Given the description of an element on the screen output the (x, y) to click on. 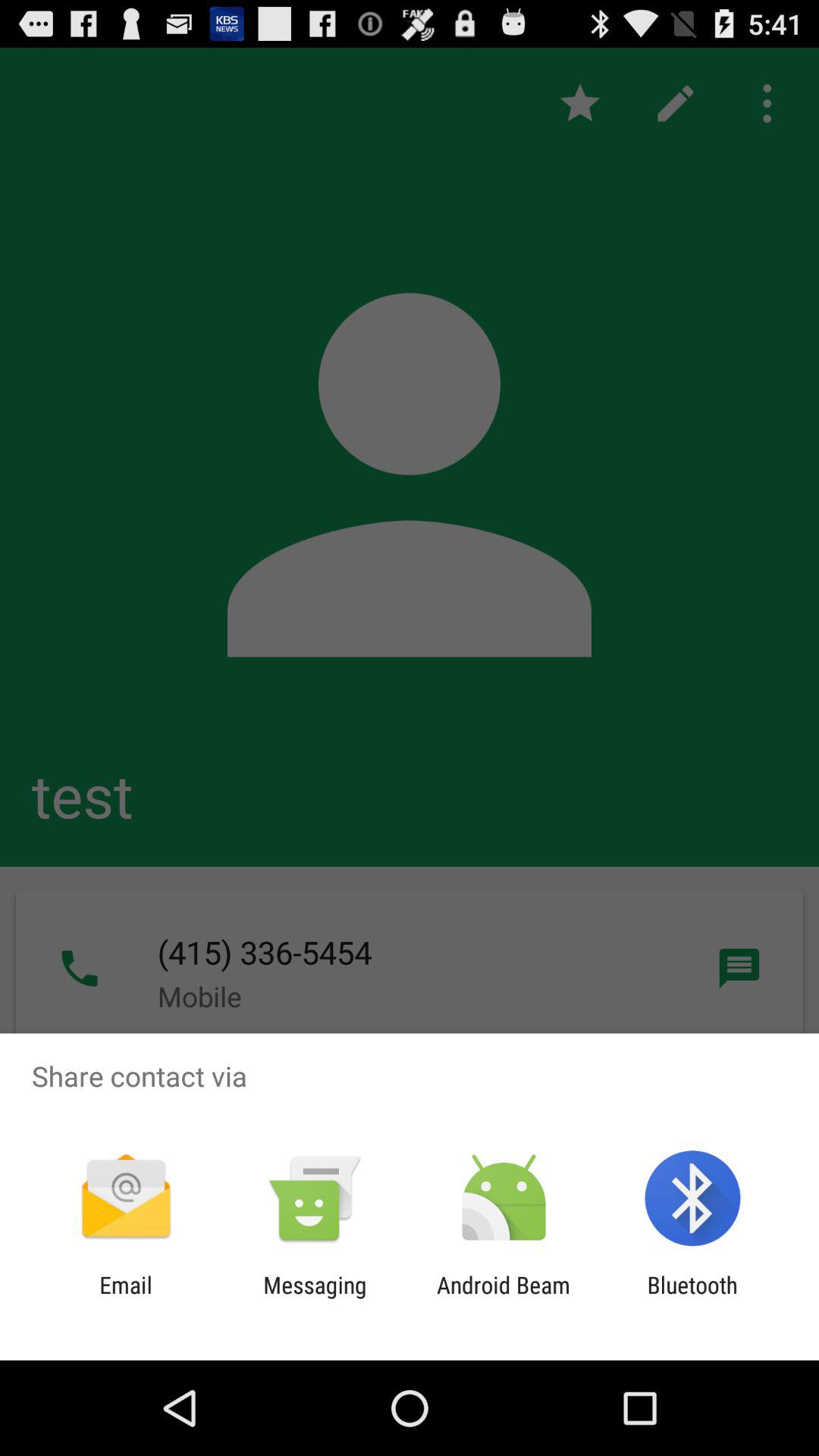
launch the icon next to the email icon (314, 1298)
